Given the description of an element on the screen output the (x, y) to click on. 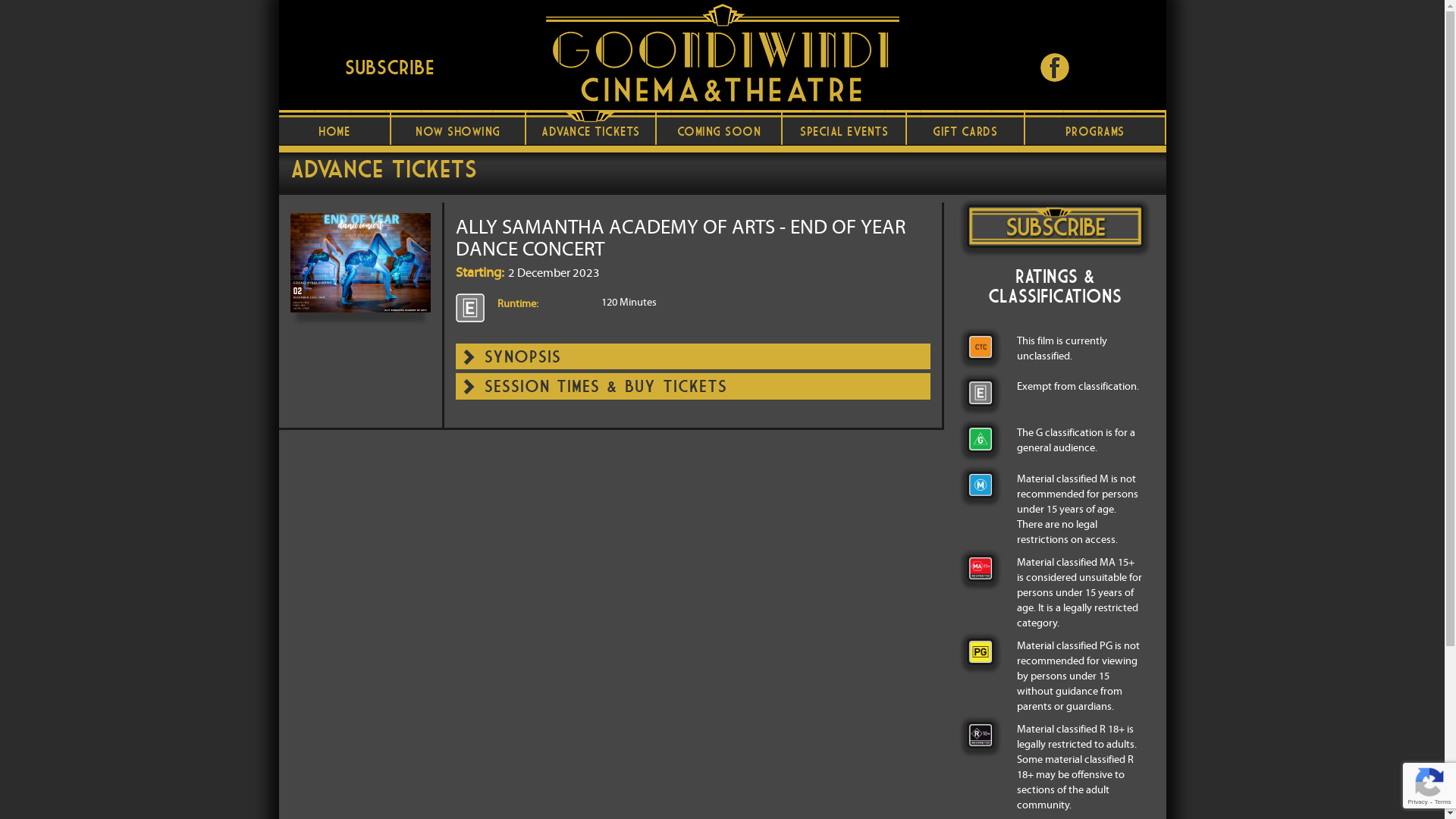
SESSION TIMES & BUY TICKETS Element type: text (605, 385)
PROGRAMS Element type: text (1095, 126)
SPECIAL EVENTS Element type: text (844, 126)
GIFT CARDS Element type: text (965, 126)
SYNOPSIS Element type: text (522, 356)
Subscribe Element type: text (389, 66)
HOME Element type: text (335, 126)
COMING SOON Element type: text (719, 126)
ALLY SAMANTHA ACADEMY OF ARTS - END OF YEAR DANCE CONCERT Element type: text (698, 236)
NOW SHOWING Element type: text (458, 126)
ADVANCE TICKETS Element type: text (591, 126)
